Given the description of an element on the screen output the (x, y) to click on. 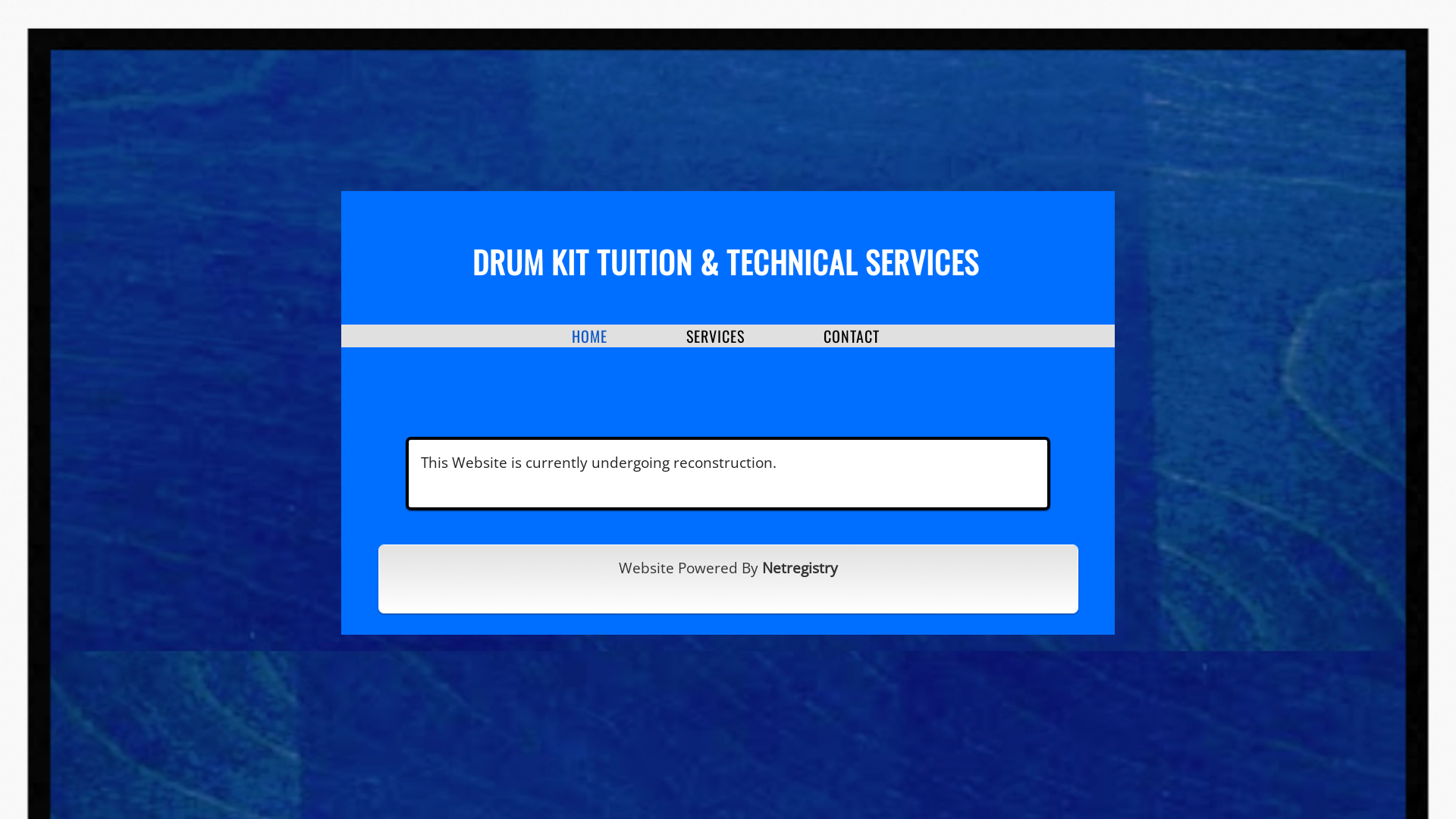
DRUM KIT TUITION & TECHNICAL SERVICES Element type: text (725, 261)
HOME Element type: text (589, 335)
SERVICES Element type: text (715, 335)
CONTACT Element type: text (851, 335)
